Given the description of an element on the screen output the (x, y) to click on. 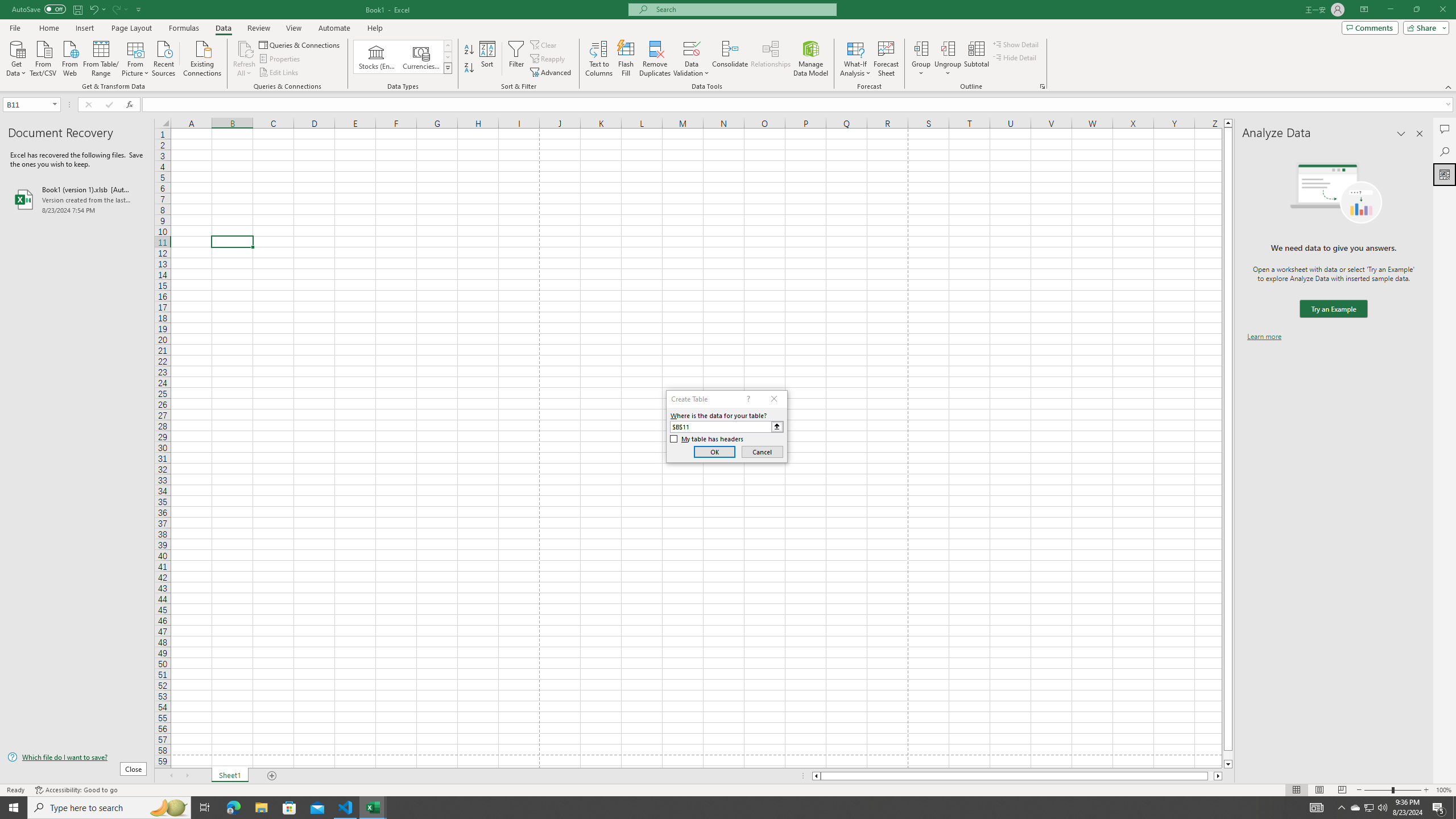
AutomationID: ConvertToLinkedEntity (403, 56)
From Text/CSV (43, 57)
Edit Links (279, 72)
